Given the description of an element on the screen output the (x, y) to click on. 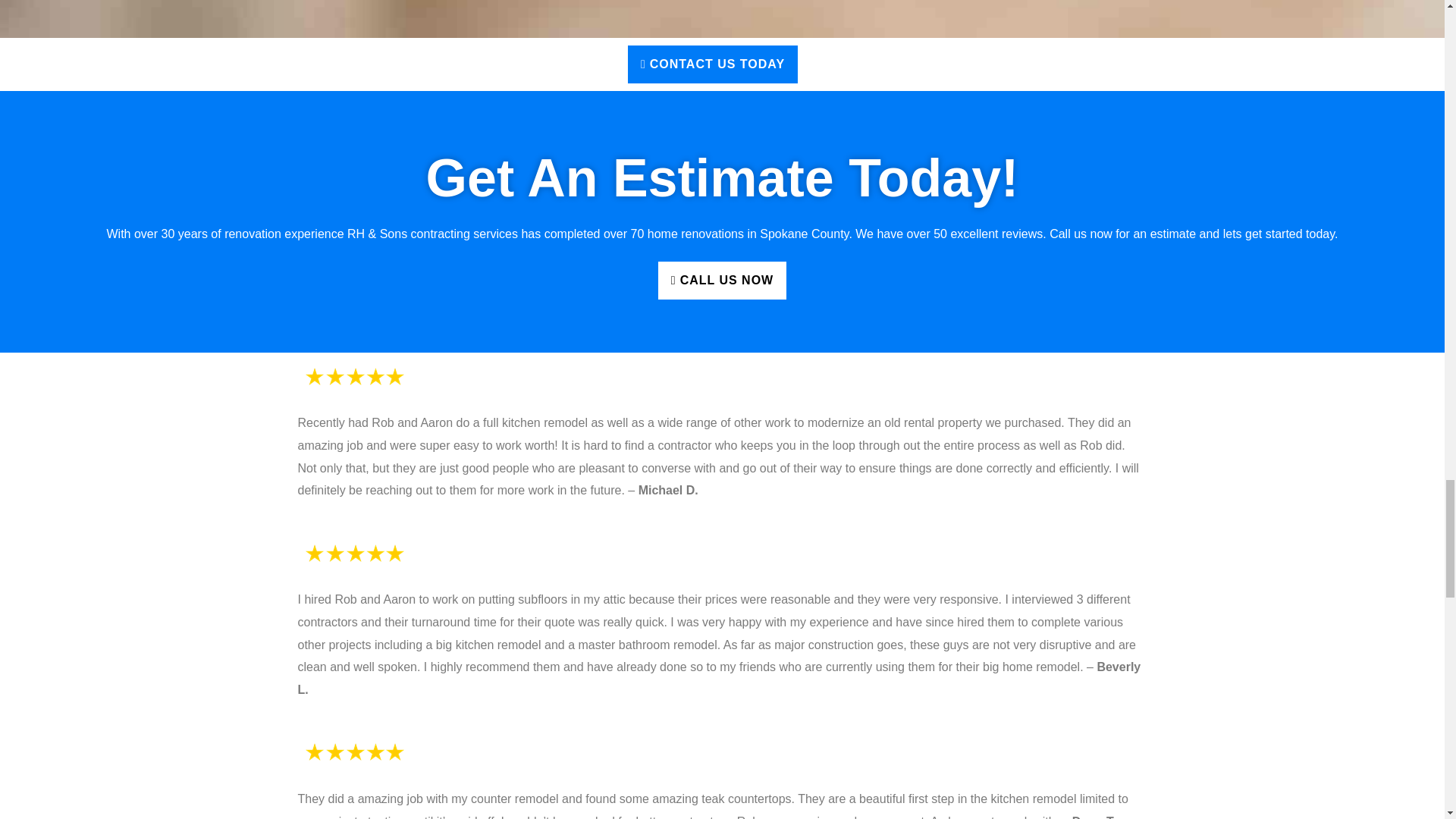
CALL US NOW (722, 280)
CONTACT US TODAY (712, 64)
